Given the description of an element on the screen output the (x, y) to click on. 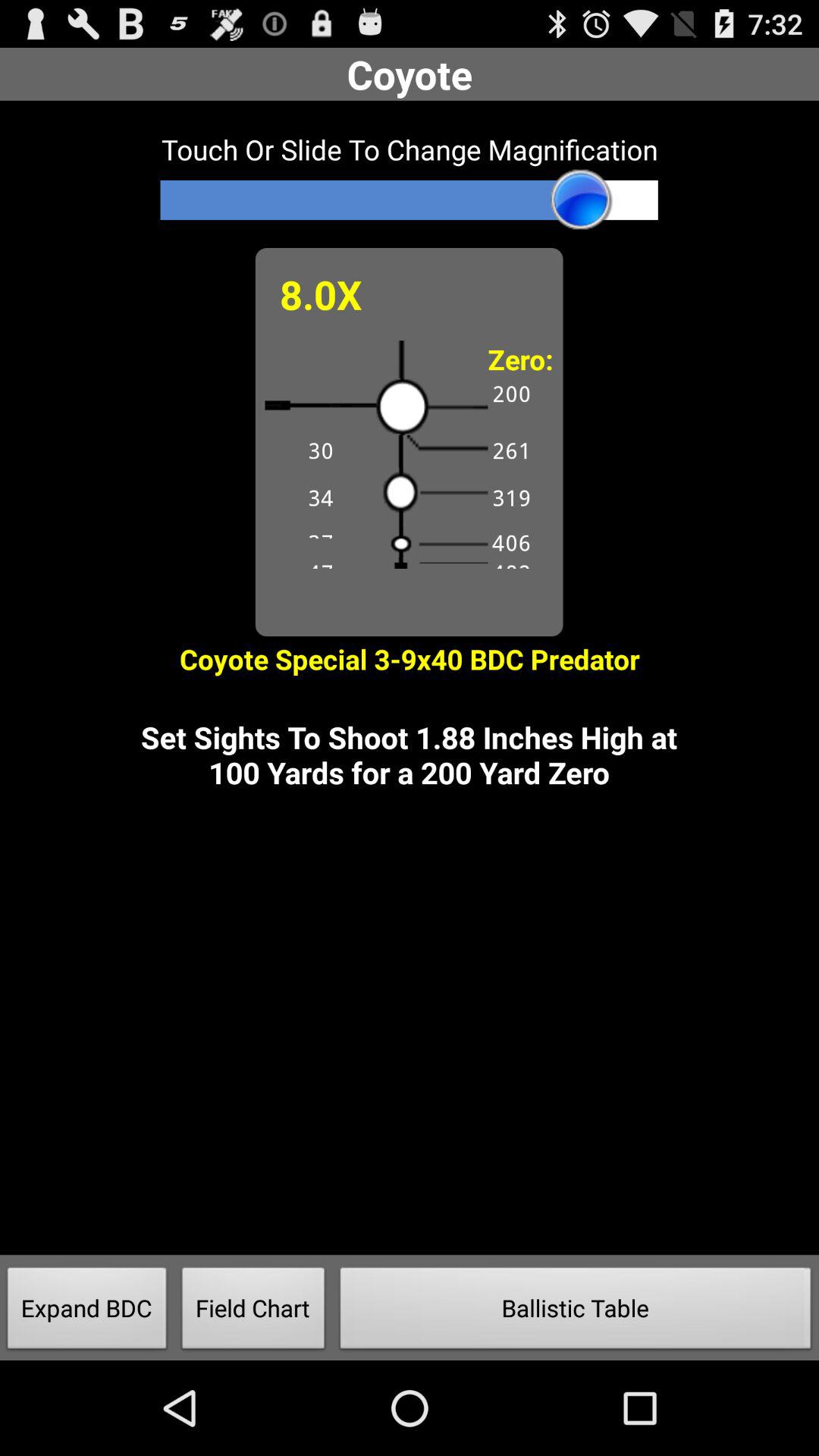
swipe to the field chart (253, 1312)
